Given the description of an element on the screen output the (x, y) to click on. 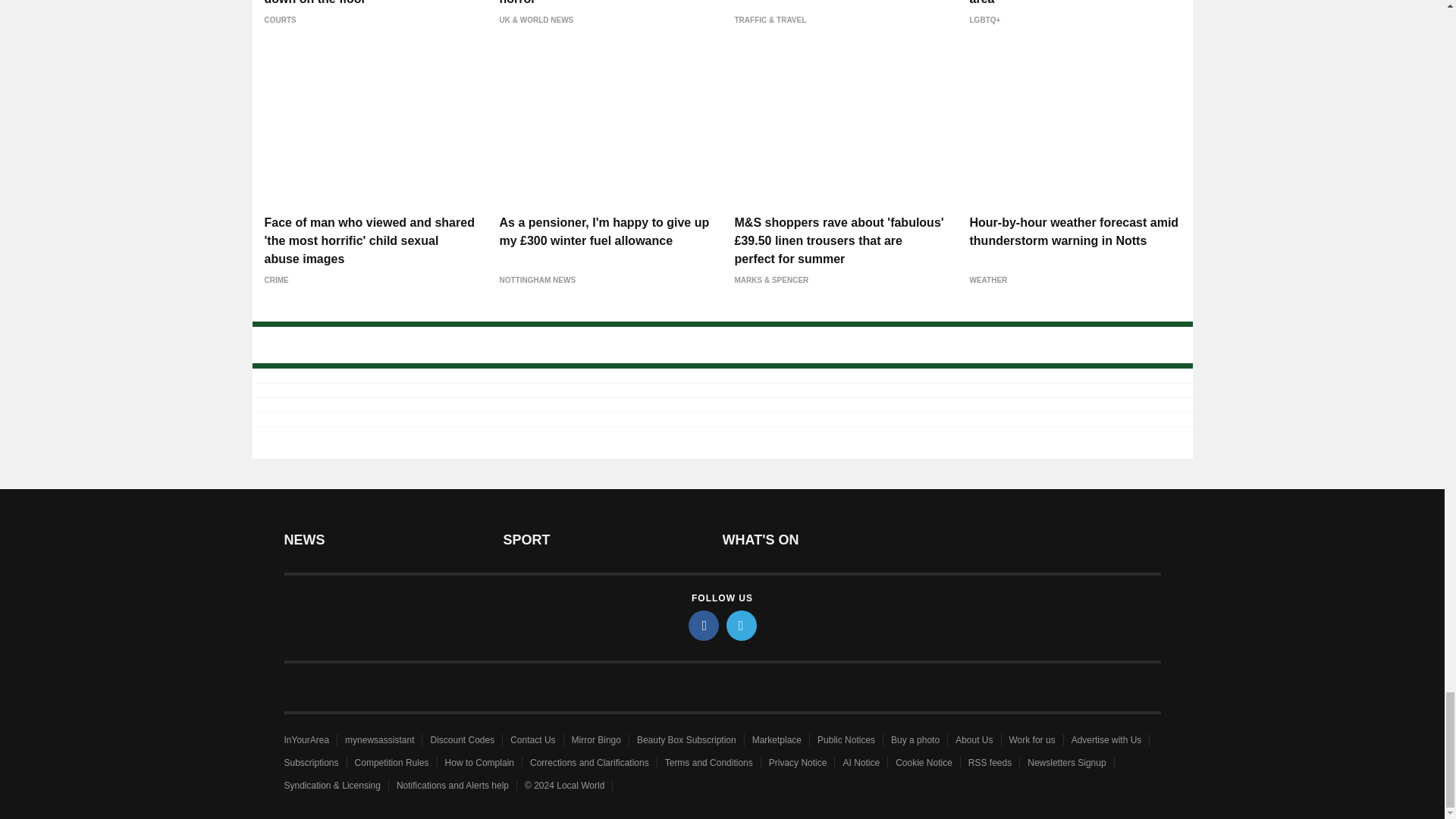
twitter (741, 625)
facebook (703, 625)
